Given the description of an element on the screen output the (x, y) to click on. 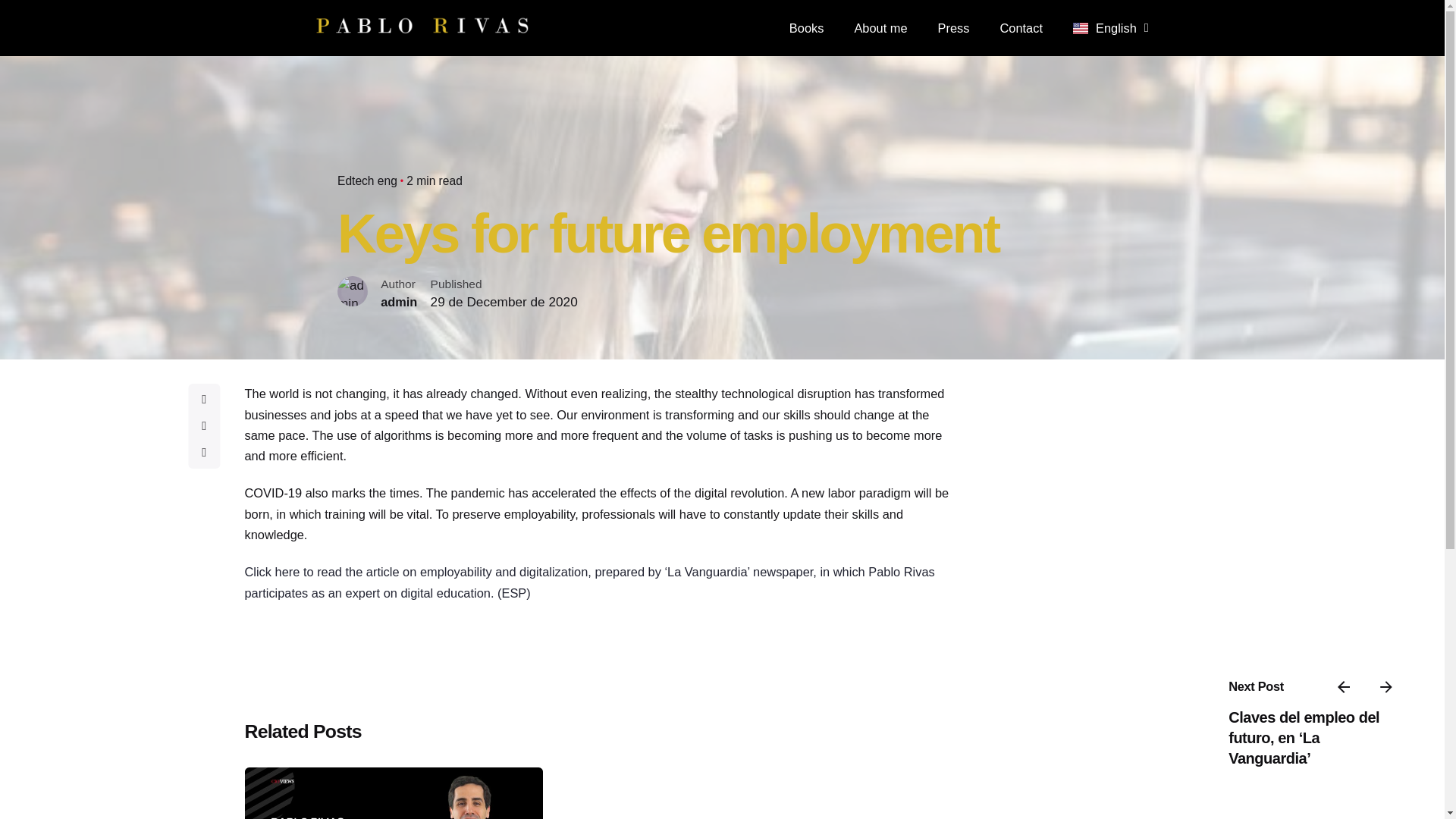
English (1110, 27)
Edtech eng (367, 180)
About me (879, 27)
Contact (1021, 27)
Books (807, 27)
Press (954, 27)
